Given the description of an element on the screen output the (x, y) to click on. 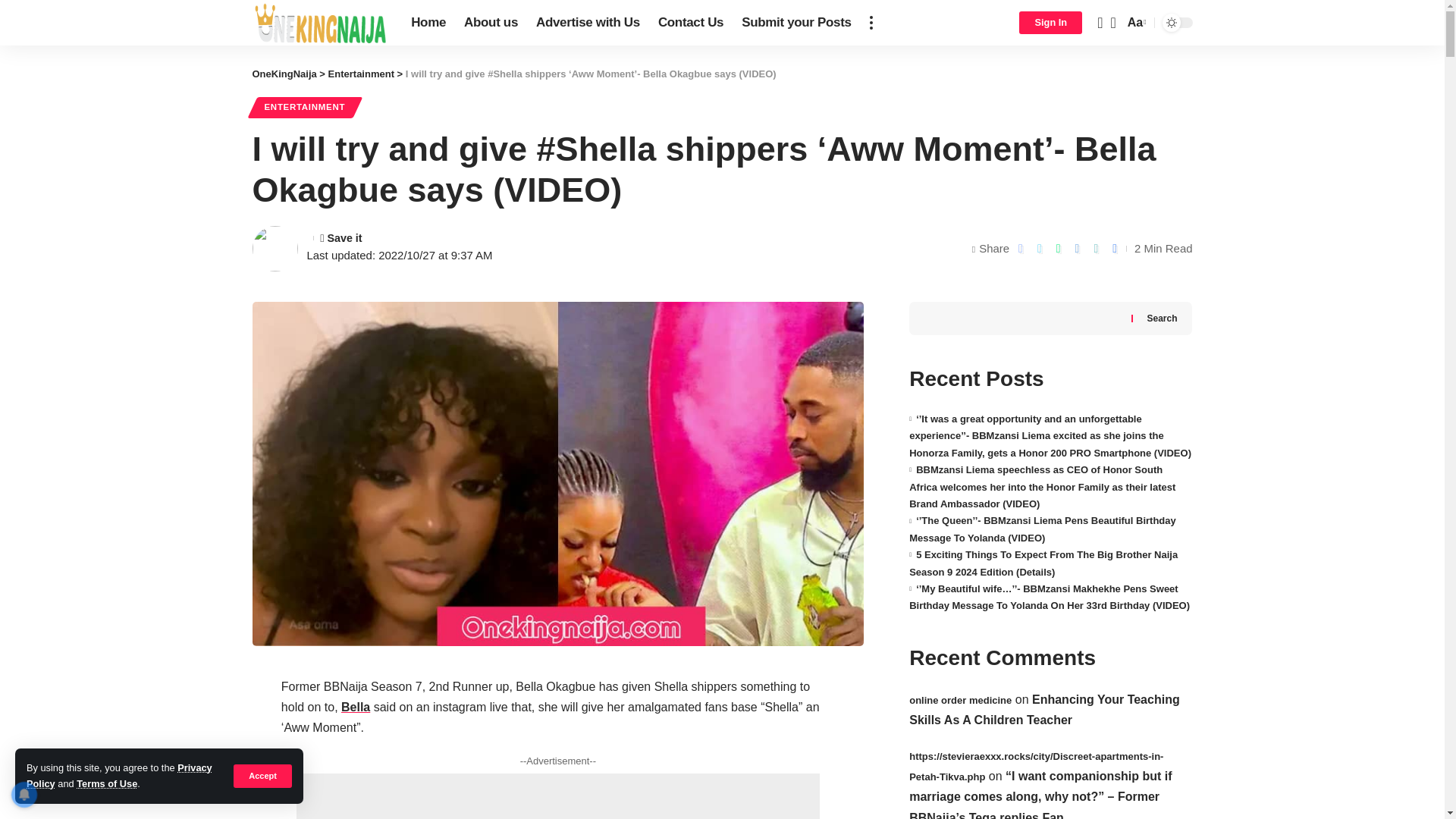
About us (490, 22)
Go to the Entertainment Category archives. (361, 73)
Accept (262, 775)
Advertisement (558, 796)
Contact Us (690, 22)
Submit your Posts (796, 22)
Aa (1135, 22)
Privacy Policy (119, 775)
OneKingNaija (319, 22)
Terms of Use (106, 783)
ENTERTAINMENT (303, 107)
OneKingNaija (283, 73)
Home (427, 22)
Advertise with Us (588, 22)
Sign In (1050, 22)
